Given the description of an element on the screen output the (x, y) to click on. 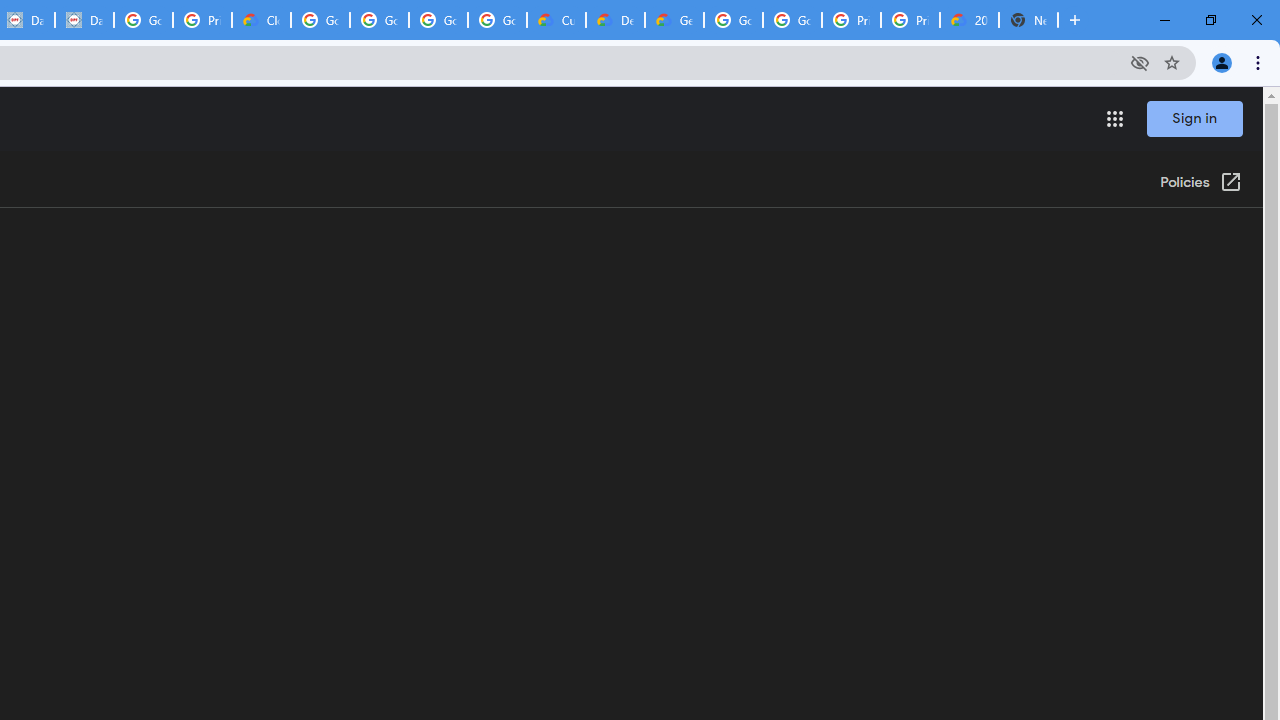
Google Workspace - Specific Terms (438, 20)
Cloud Data Processing Addendum | Google Cloud (260, 20)
Google Cloud Platform (791, 20)
Customer Care | Google Cloud (556, 20)
Google Workspace - Specific Terms (497, 20)
Data Privacy Framework (84, 20)
Policies (Open in a new window) (1200, 183)
